Given the description of an element on the screen output the (x, y) to click on. 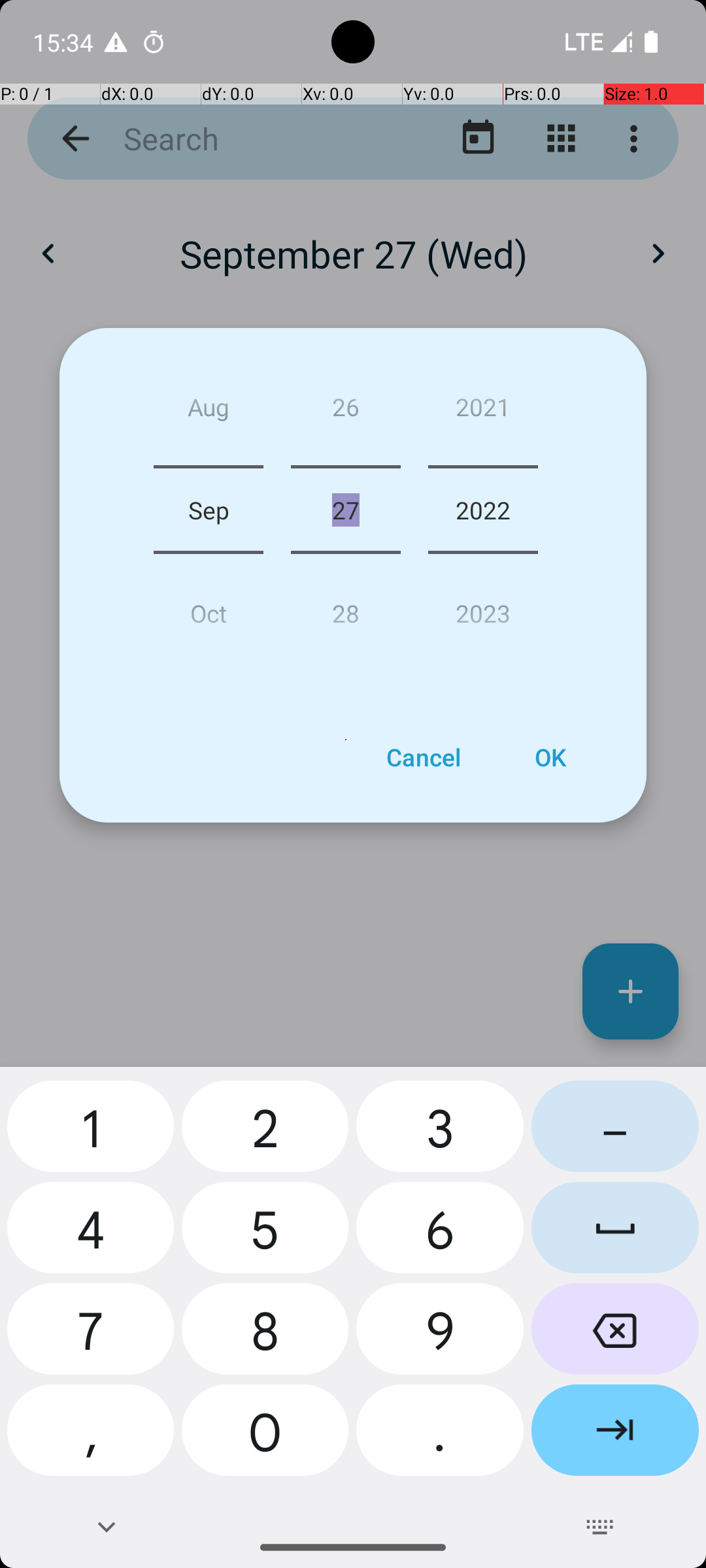
Aug Element type: android.widget.Button (208, 411)
2021 Element type: android.widget.Button (482, 411)
2022 Element type: android.widget.EditText (482, 509)
Dash Element type: android.widget.FrameLayout (614, 1130)
